Given the description of an element on the screen output the (x, y) to click on. 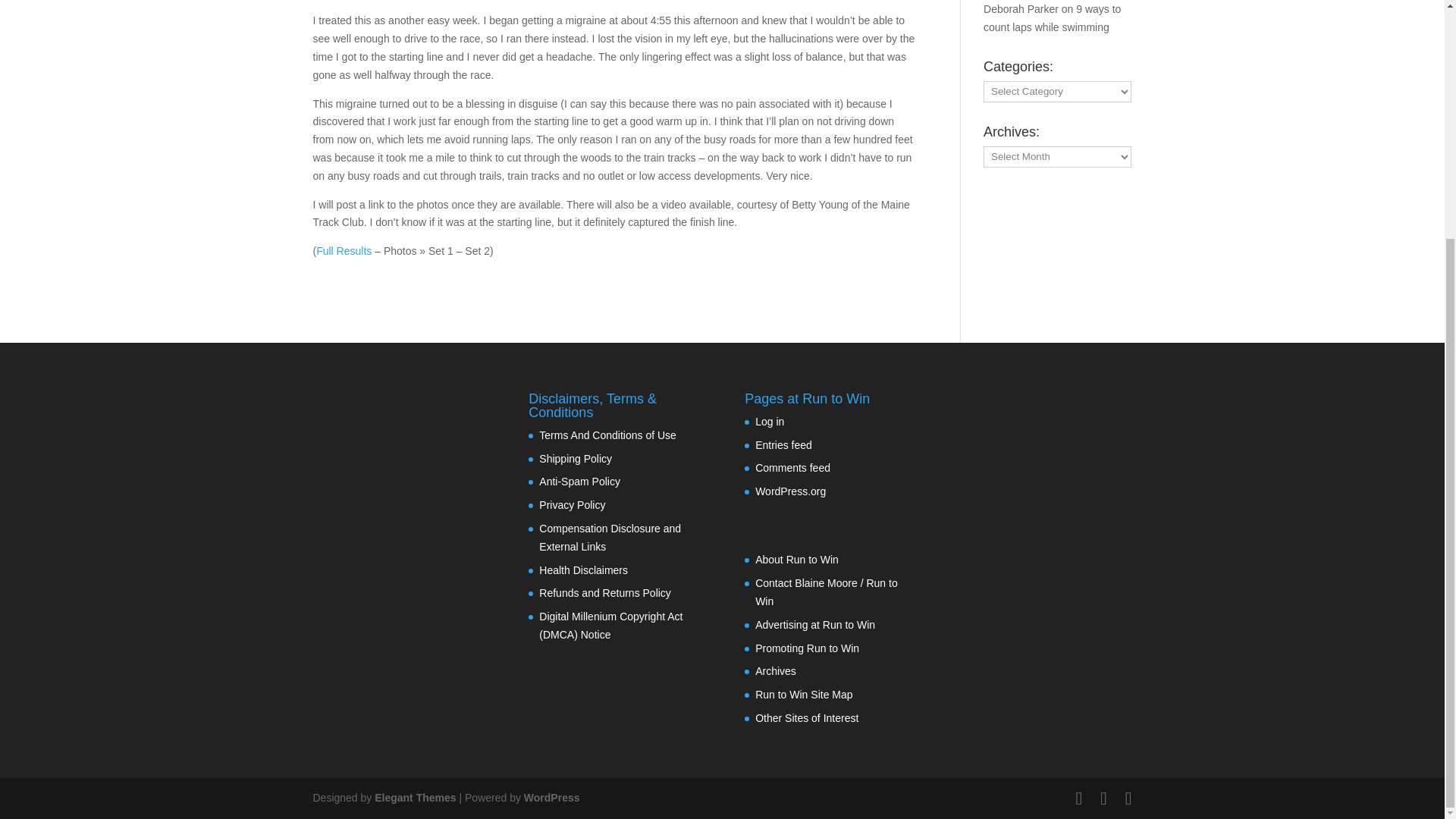
Compensation Disclosure and External Links (609, 537)
Promoting Run to Win (807, 648)
Health Disclaimers (582, 570)
Comments feed (792, 467)
Archives (775, 671)
Log in (769, 421)
Entries feed (783, 444)
Full Results (343, 250)
Run to Win Site Map (803, 694)
WordPress.org (790, 491)
9 ways to count laps while swimming (1052, 18)
Advertising at Run to Win (815, 624)
Terms And Conditions of Use (607, 435)
Shipping Policy (574, 458)
Other Sites of Interest (807, 717)
